Given the description of an element on the screen output the (x, y) to click on. 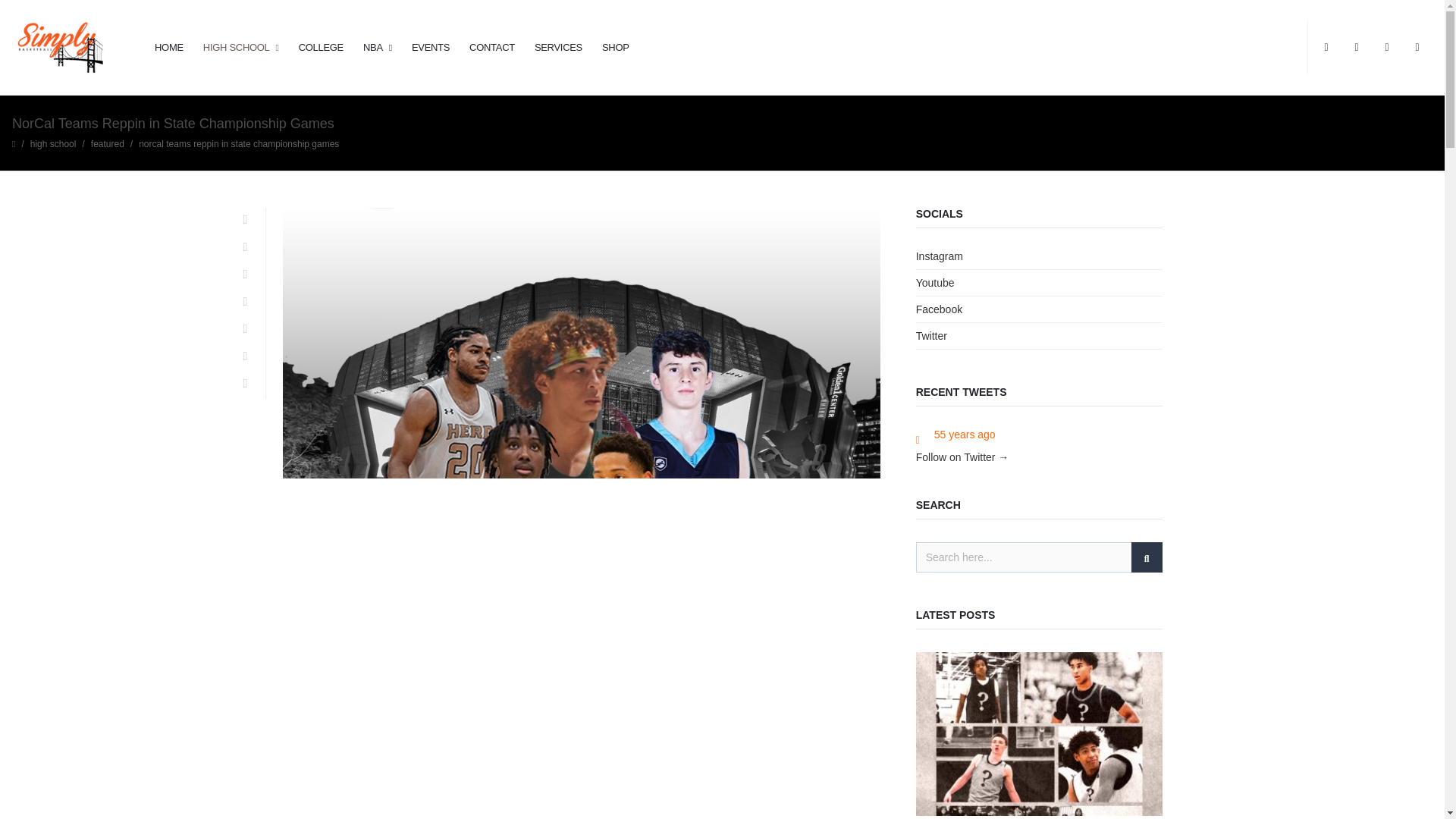
Simply Basketball (58, 47)
Search here... (1038, 556)
 Follow on Facebook (1355, 46)
NBA (377, 47)
high school (53, 143)
EVENTS (430, 47)
 Follow on Twitter (1325, 46)
 Follow on YouTube (1417, 46)
Share on Twitter (244, 247)
High School (53, 143)
